Given the description of an element on the screen output the (x, y) to click on. 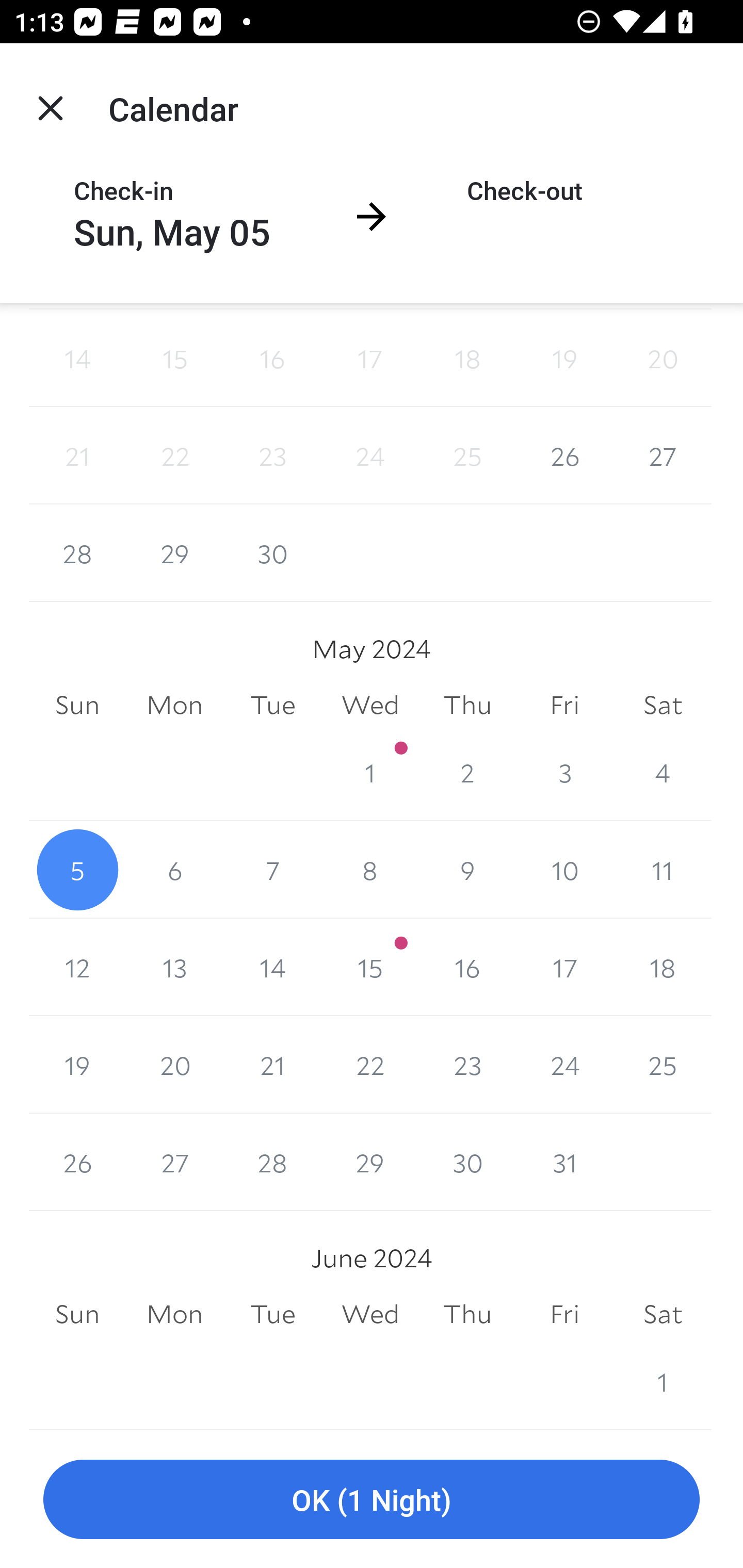
14 14 April 2024 (77, 357)
15 15 April 2024 (174, 357)
16 16 April 2024 (272, 357)
17 17 April 2024 (370, 357)
18 18 April 2024 (467, 357)
19 19 April 2024 (564, 357)
20 20 April 2024 (662, 357)
21 21 April 2024 (77, 455)
22 22 April 2024 (174, 455)
23 23 April 2024 (272, 455)
24 24 April 2024 (370, 455)
25 25 April 2024 (467, 455)
26 26 April 2024 (564, 455)
27 27 April 2024 (662, 455)
28 28 April 2024 (77, 553)
29 29 April 2024 (174, 553)
30 30 April 2024 (272, 553)
Sun (77, 705)
Mon (174, 705)
Tue (272, 705)
Wed (370, 705)
Thu (467, 705)
Fri (564, 705)
Sat (662, 705)
1 1 May 2024 (370, 772)
2 2 May 2024 (467, 772)
3 3 May 2024 (564, 772)
4 4 May 2024 (662, 772)
5 5 May 2024 (77, 869)
6 6 May 2024 (174, 869)
7 7 May 2024 (272, 869)
8 8 May 2024 (370, 869)
9 9 May 2024 (467, 869)
10 10 May 2024 (564, 869)
11 11 May 2024 (662, 869)
12 12 May 2024 (77, 967)
13 13 May 2024 (174, 967)
14 14 May 2024 (272, 967)
15 15 May 2024 (370, 967)
16 16 May 2024 (467, 967)
17 17 May 2024 (564, 967)
18 18 May 2024 (662, 967)
19 19 May 2024 (77, 1064)
20 20 May 2024 (174, 1064)
21 21 May 2024 (272, 1064)
22 22 May 2024 (370, 1064)
23 23 May 2024 (467, 1064)
24 24 May 2024 (564, 1064)
25 25 May 2024 (662, 1064)
26 26 May 2024 (77, 1161)
27 27 May 2024 (174, 1161)
28 28 May 2024 (272, 1161)
29 29 May 2024 (370, 1161)
30 30 May 2024 (467, 1161)
31 31 May 2024 (564, 1161)
Sun (77, 1313)
Mon (174, 1313)
Tue (272, 1313)
Wed (370, 1313)
Thu (467, 1313)
Fri (564, 1313)
Sat (662, 1313)
1 1 June 2024 (662, 1381)
OK (1 Night) (371, 1499)
